Given the description of an element on the screen output the (x, y) to click on. 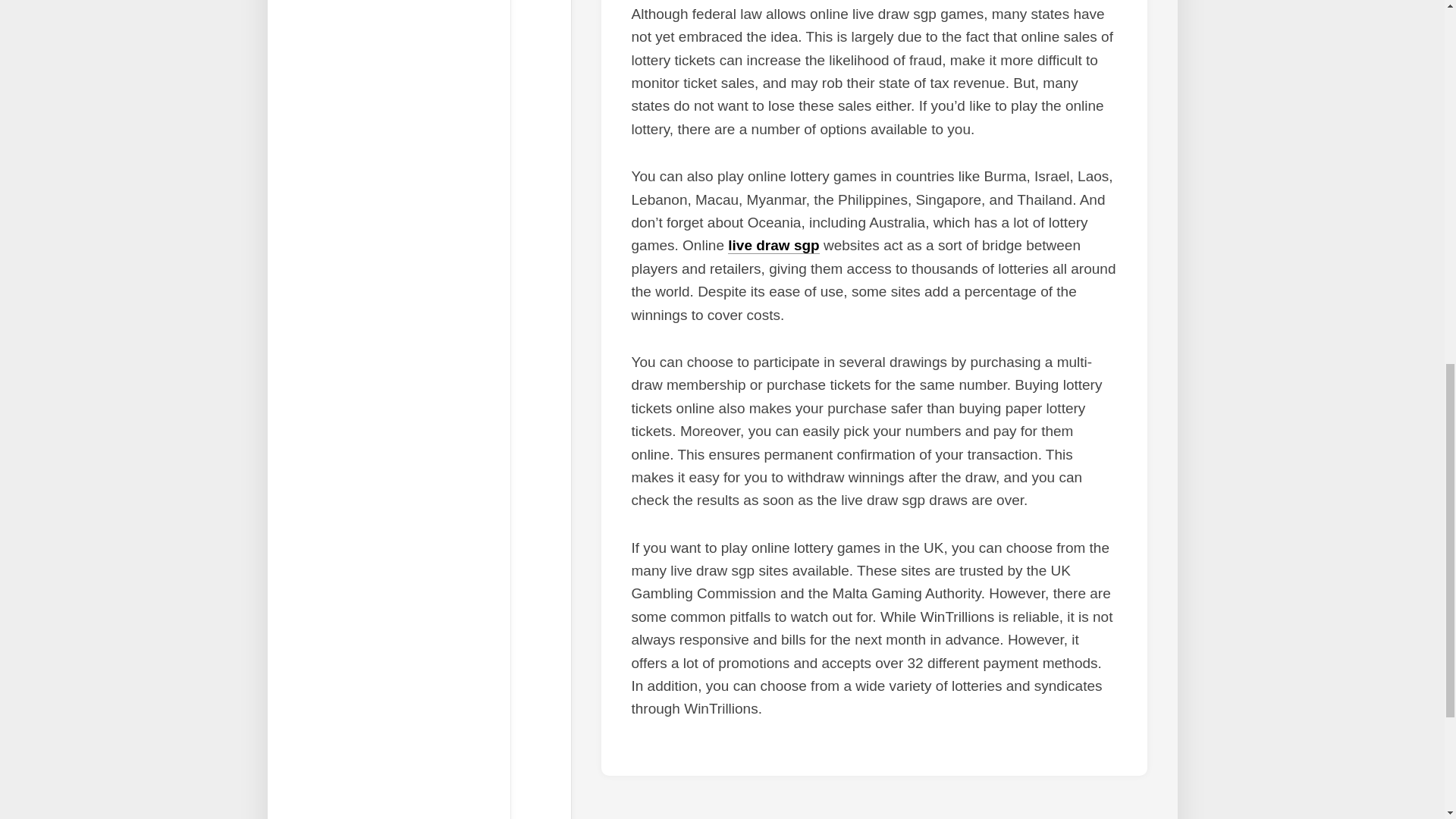
live draw sgp (773, 245)
